Given the description of an element on the screen output the (x, y) to click on. 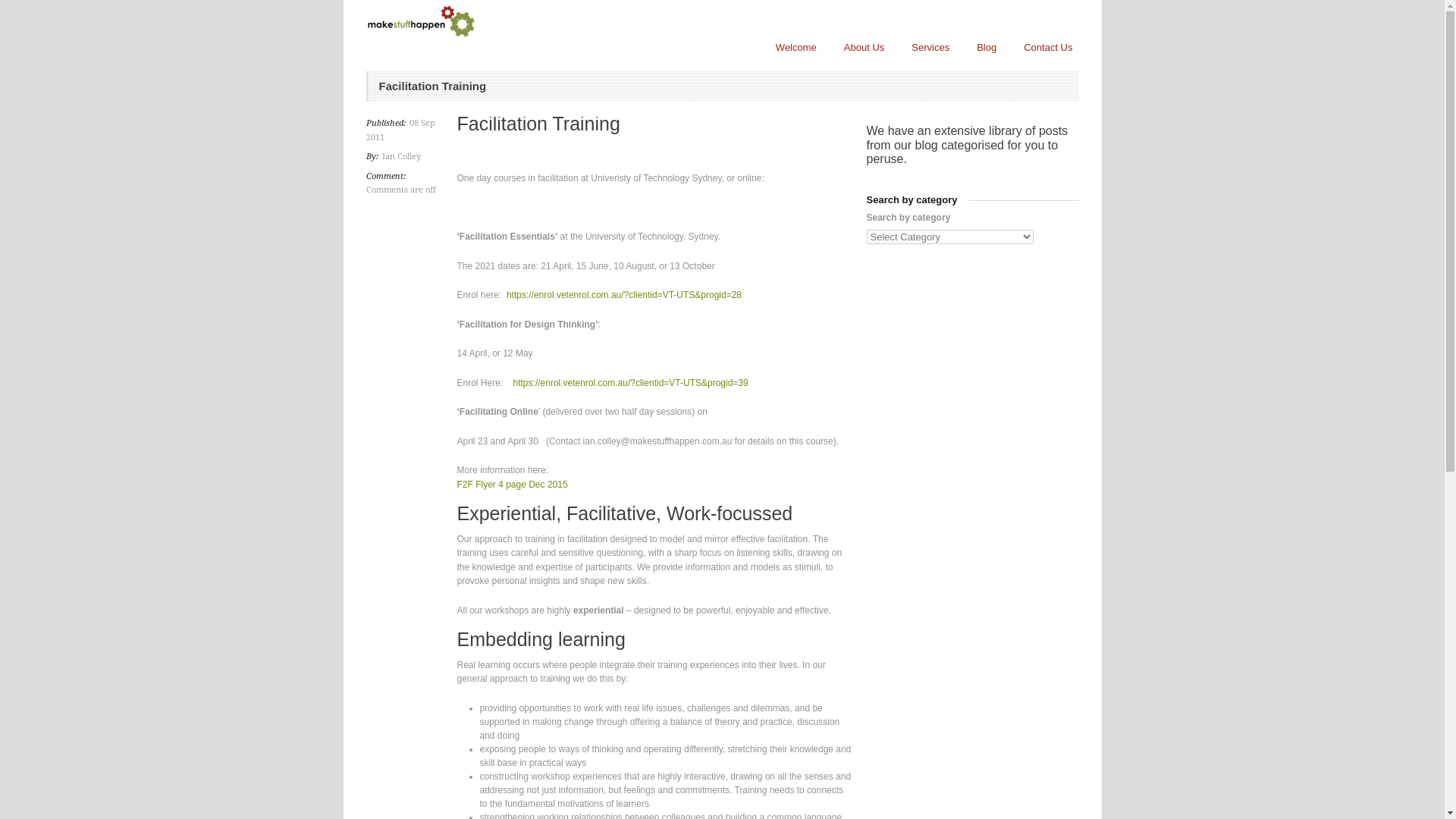
Contact Us Element type: text (1047, 47)
F2F Flyer 4 page Dec 2015 Element type: text (511, 484)
https://enrol.vetenrol.com.au/?clientid=VT-UTS&progid=28 Element type: text (623, 294)
Welcome Element type: text (796, 47)
https://enrol.vetenrol.com.au/?clientid=VT-UTS&progid=39 Element type: text (630, 382)
About Us Element type: text (863, 47)
Blog Element type: text (986, 47)
Services Element type: text (930, 47)
